Given the description of an element on the screen output the (x, y) to click on. 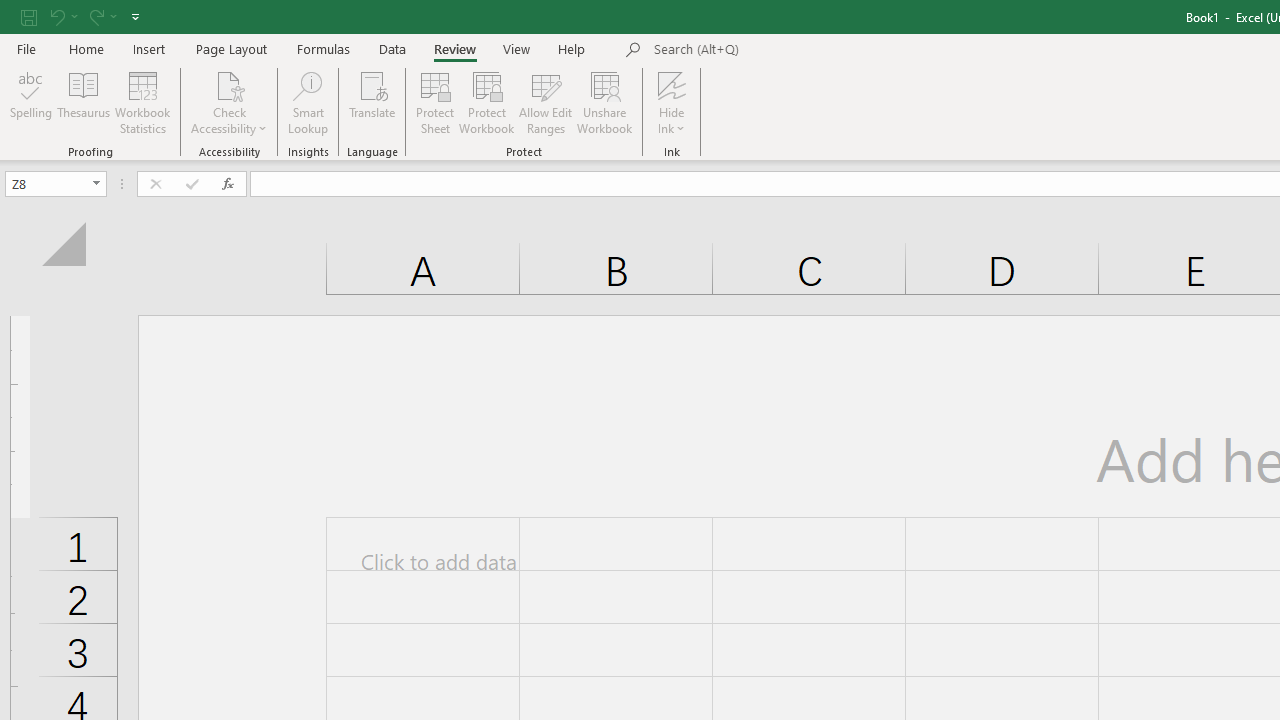
Thesaurus... (83, 102)
